Given the description of an element on the screen output the (x, y) to click on. 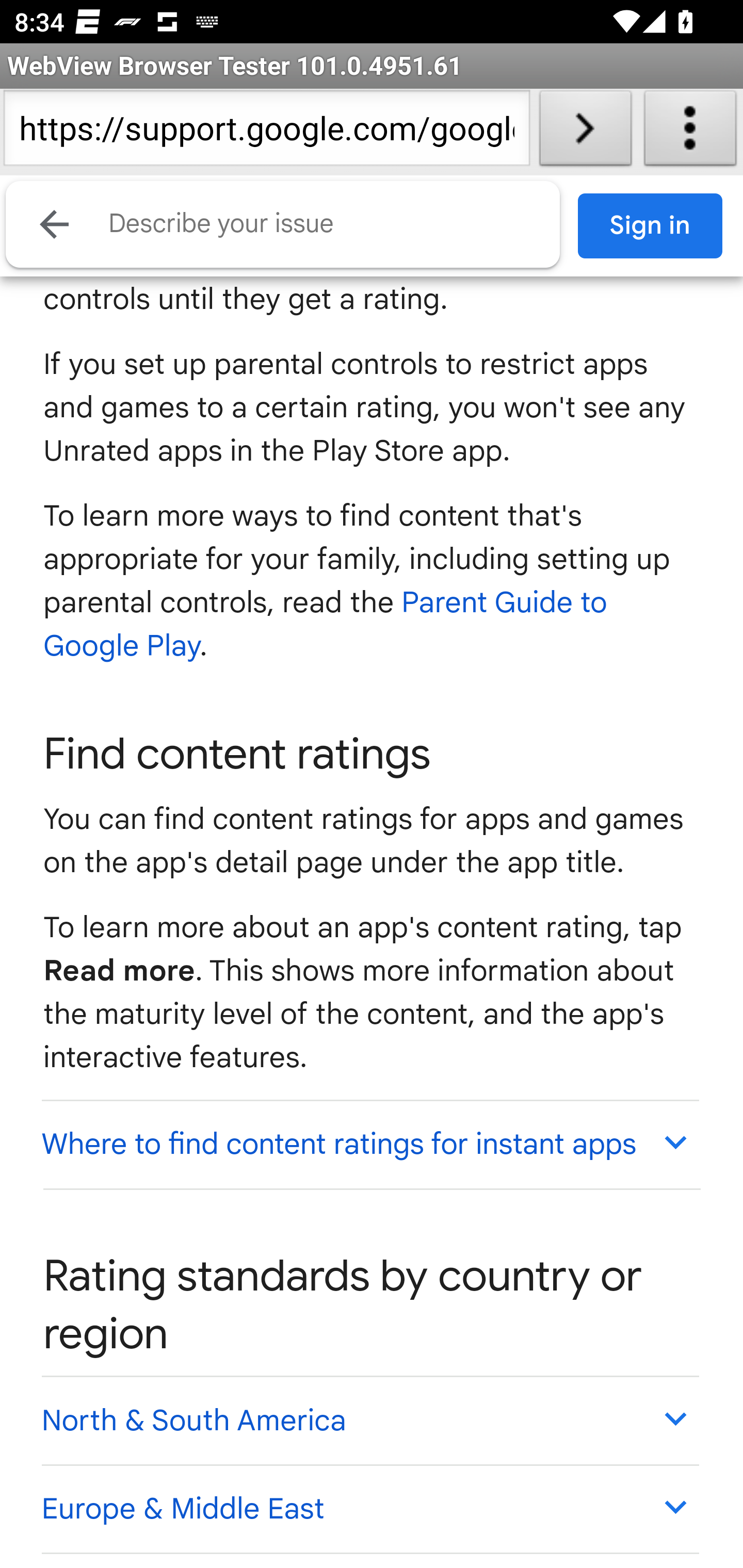
Load URL (585, 132)
About WebView (690, 132)
Close search (54, 223)
Sign in (650, 226)
Parent Guide to Google Play (325, 625)
Where to find content ratings for instant apps (369, 1143)
North & South America (369, 1420)
Europe & Middle East (369, 1507)
